Given the description of an element on the screen output the (x, y) to click on. 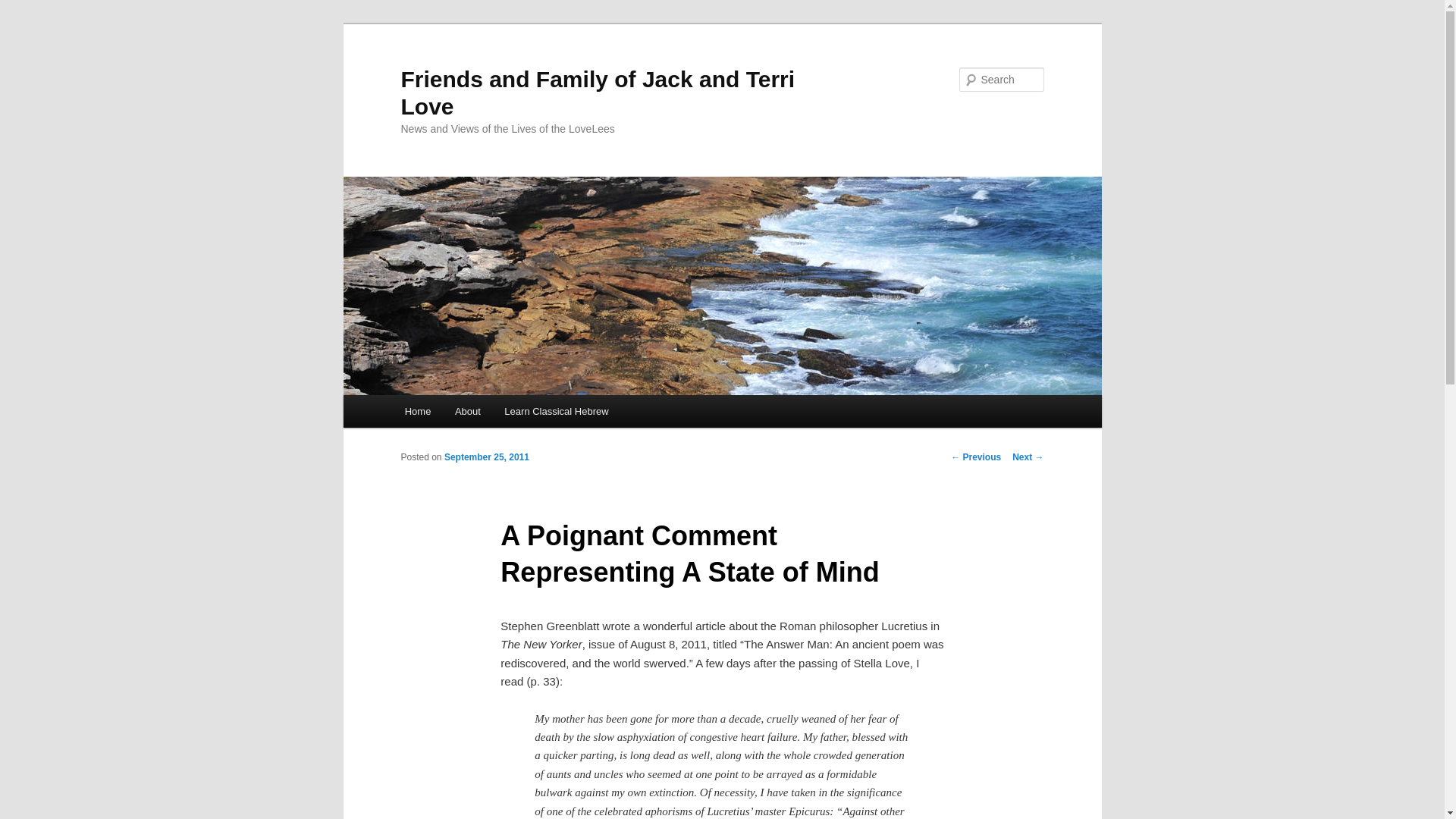
September 25, 2011 (486, 457)
Learn Classical Hebrew (557, 410)
Search (24, 8)
About (467, 410)
6:19 pm (486, 457)
Friends and Family of Jack and Terri Love (597, 92)
Home (417, 410)
